Given the description of an element on the screen output the (x, y) to click on. 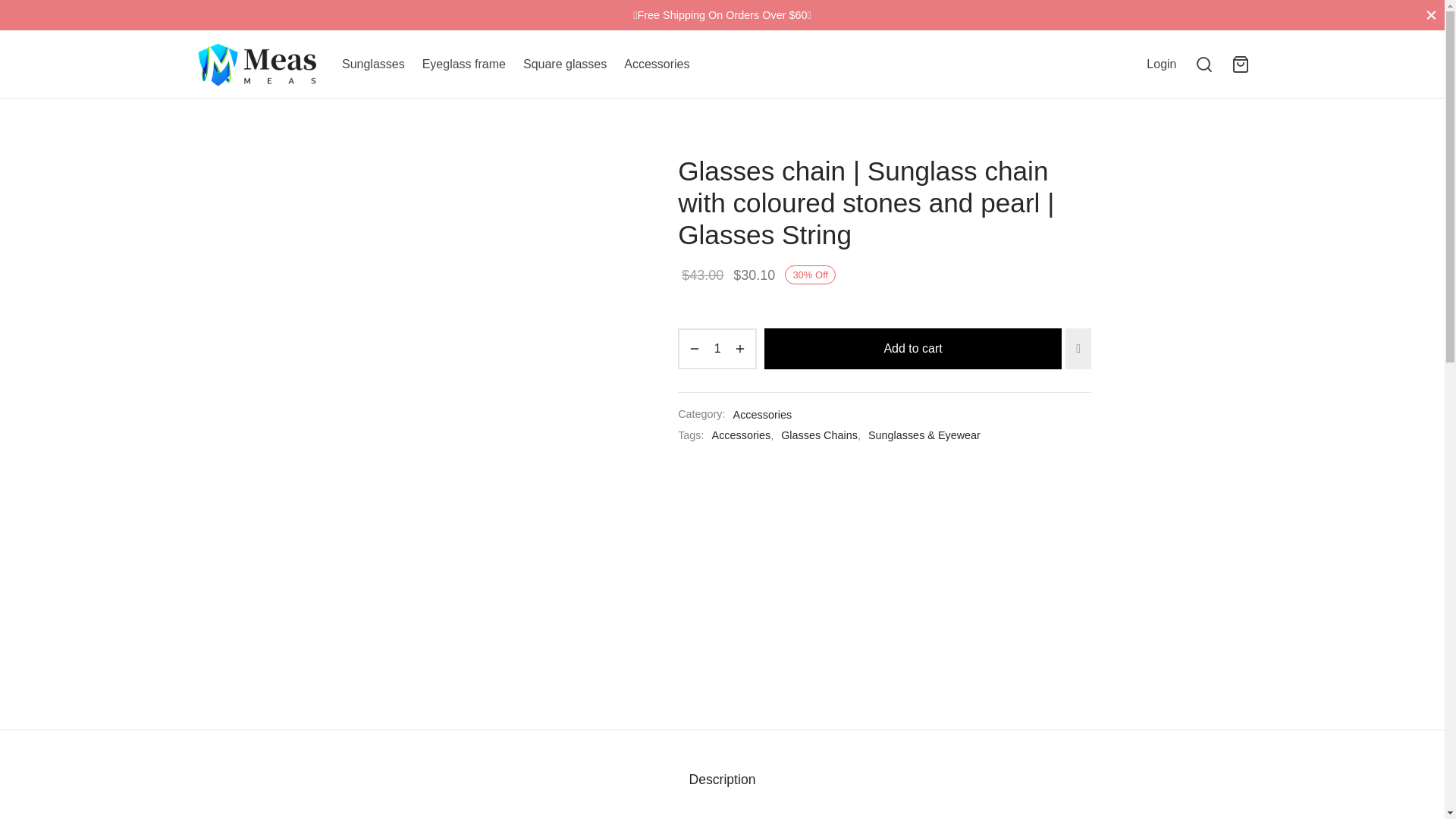
1 (717, 348)
Description (721, 779)
Sunglasses (373, 64)
Accessories (741, 435)
Close (1431, 14)
Glasses Chains (818, 435)
Accessories (656, 64)
Eyeglass frame (463, 64)
Add to cart (912, 348)
Cart (1240, 64)
